Given the description of an element on the screen output the (x, y) to click on. 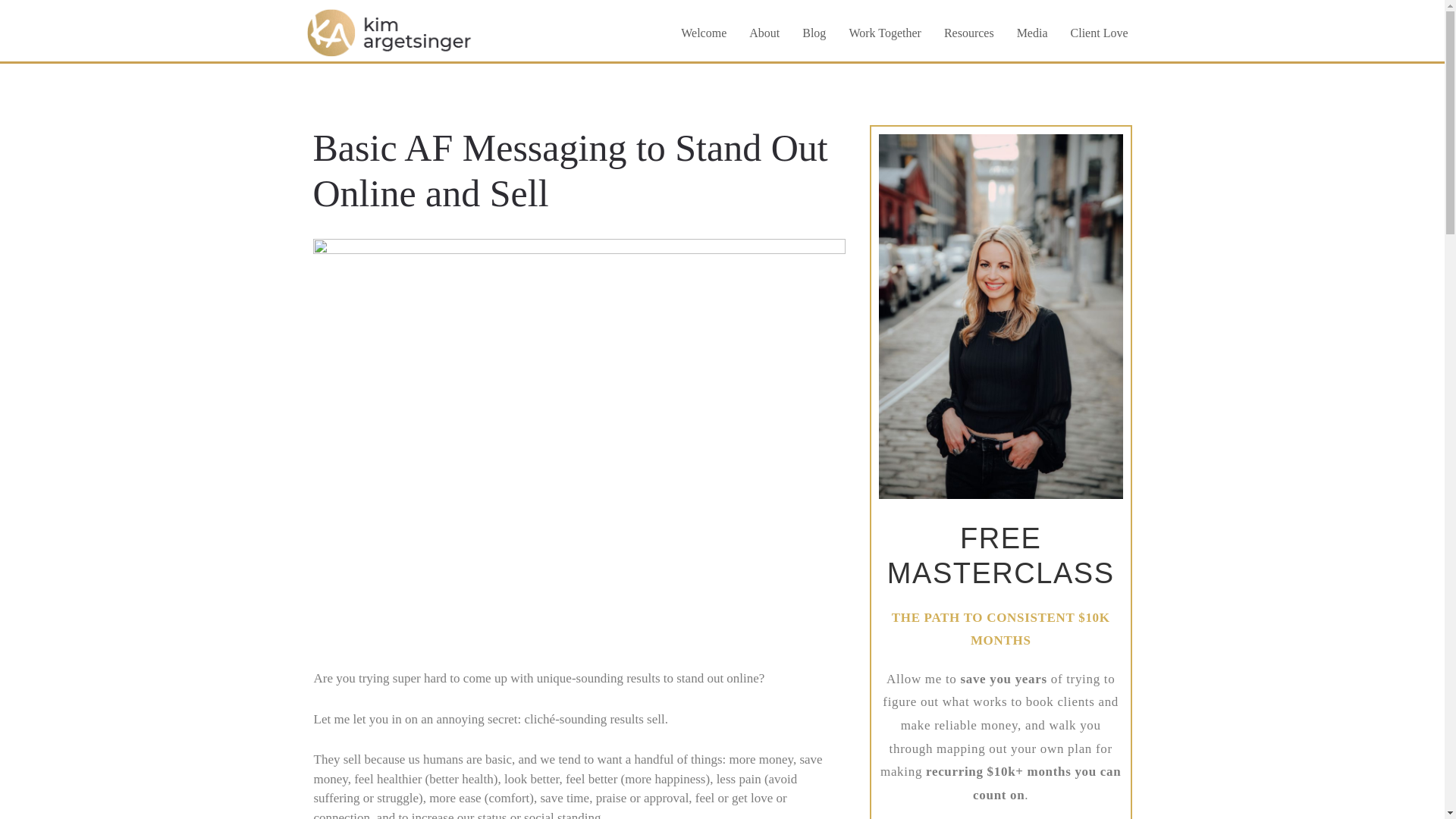
Blog (813, 36)
About (764, 36)
Media (1032, 36)
Work Together (885, 36)
Kim Argetsinger (347, 72)
Welcome (703, 36)
Client Love (1099, 36)
Resources (969, 36)
